Given the description of an element on the screen output the (x, y) to click on. 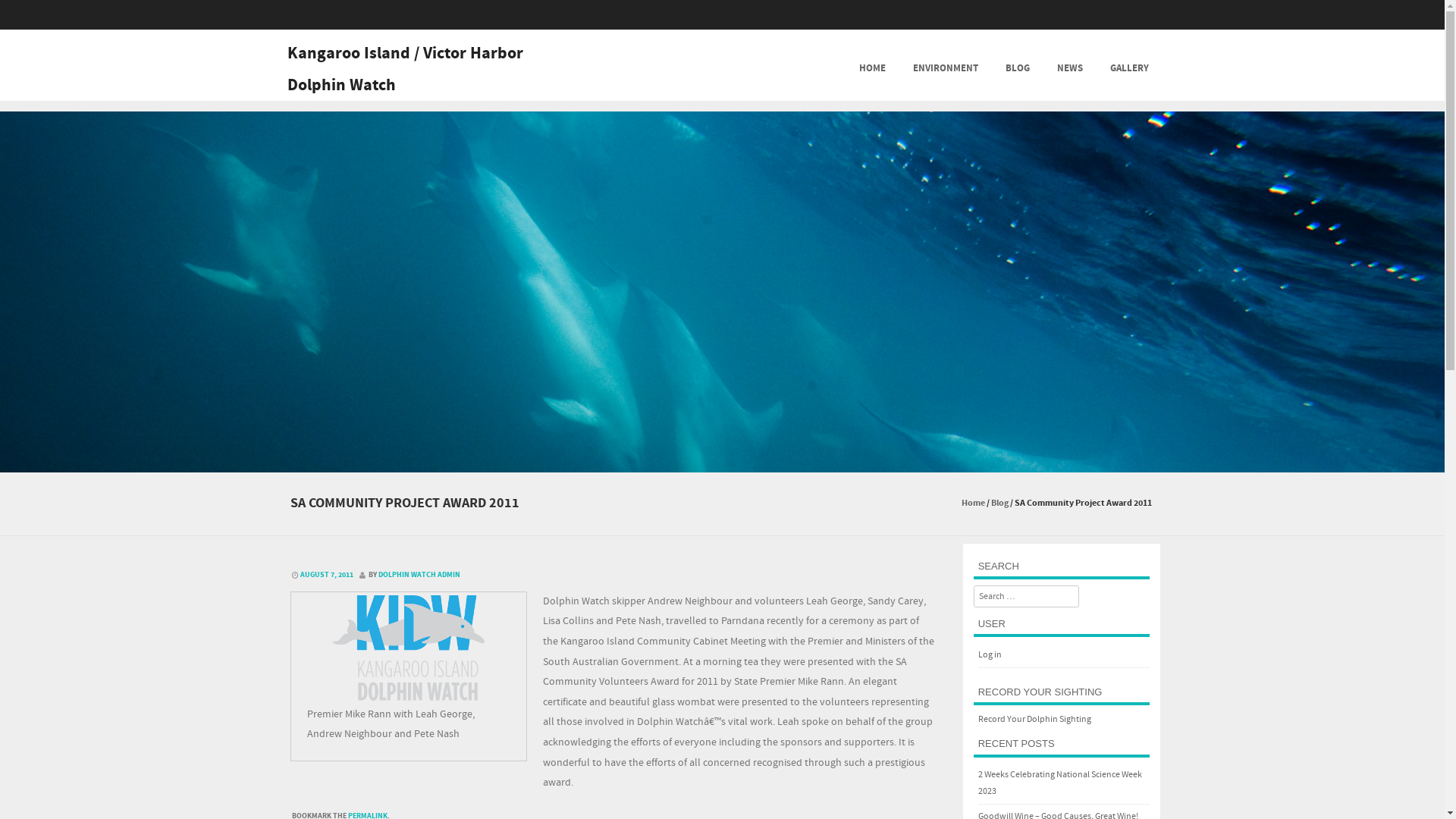
MENU Element type: text (748, 77)
DOLPHIN WATCH ADMIN Element type: text (418, 574)
Kangaroo Island / Victor Harbor Dolphin Watch Element type: hover (722, 461)
BLOG Element type: text (1017, 64)
SKIP TO CONTENT Element type: text (774, 64)
AUGUST 7, 2011 Element type: text (324, 574)
Search Element type: text (24, 14)
Log in Element type: text (989, 654)
NEWS Element type: text (1069, 64)
HOME Element type: text (871, 64)
Kangaroo Island / Victor Harbor Dolphin Watch Element type: text (404, 69)
ENVIRONMENT Element type: text (945, 64)
Blog Element type: text (998, 502)
Record Your Dolphin Sighting Element type: text (1034, 718)
Home Element type: text (973, 502)
2 Weeks Celebrating National Science Week 2023 Element type: text (1060, 782)
GALLERY Element type: text (1129, 64)
Volunteers Award with Premie cr Element type: hover (407, 649)
